Given the description of an element on the screen output the (x, y) to click on. 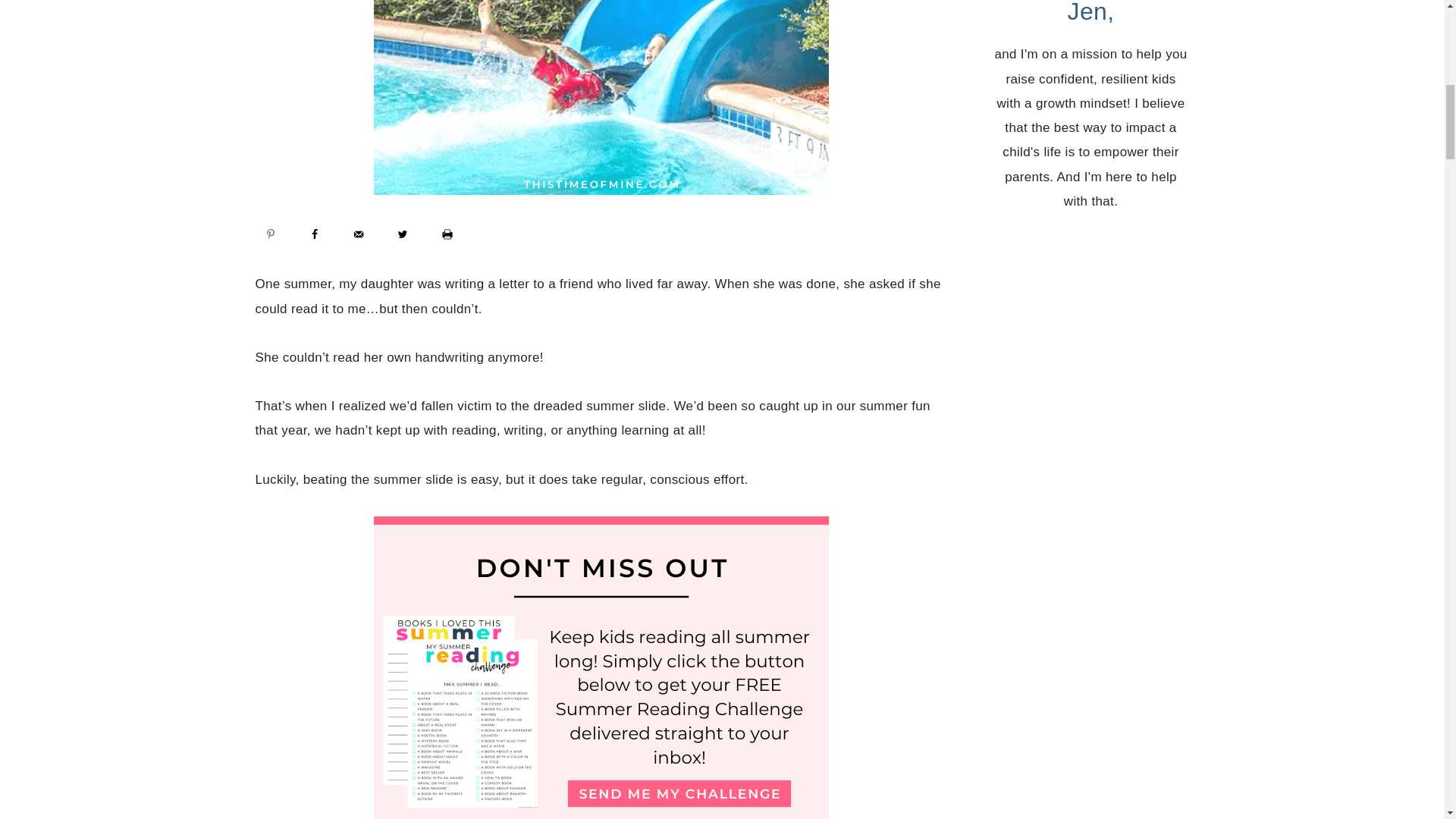
Save to Pinterest (269, 234)
Share on Twitter (402, 234)
Share on Facebook (314, 234)
Send over email (358, 234)
Print this webpage (447, 234)
